Given the description of an element on the screen output the (x, y) to click on. 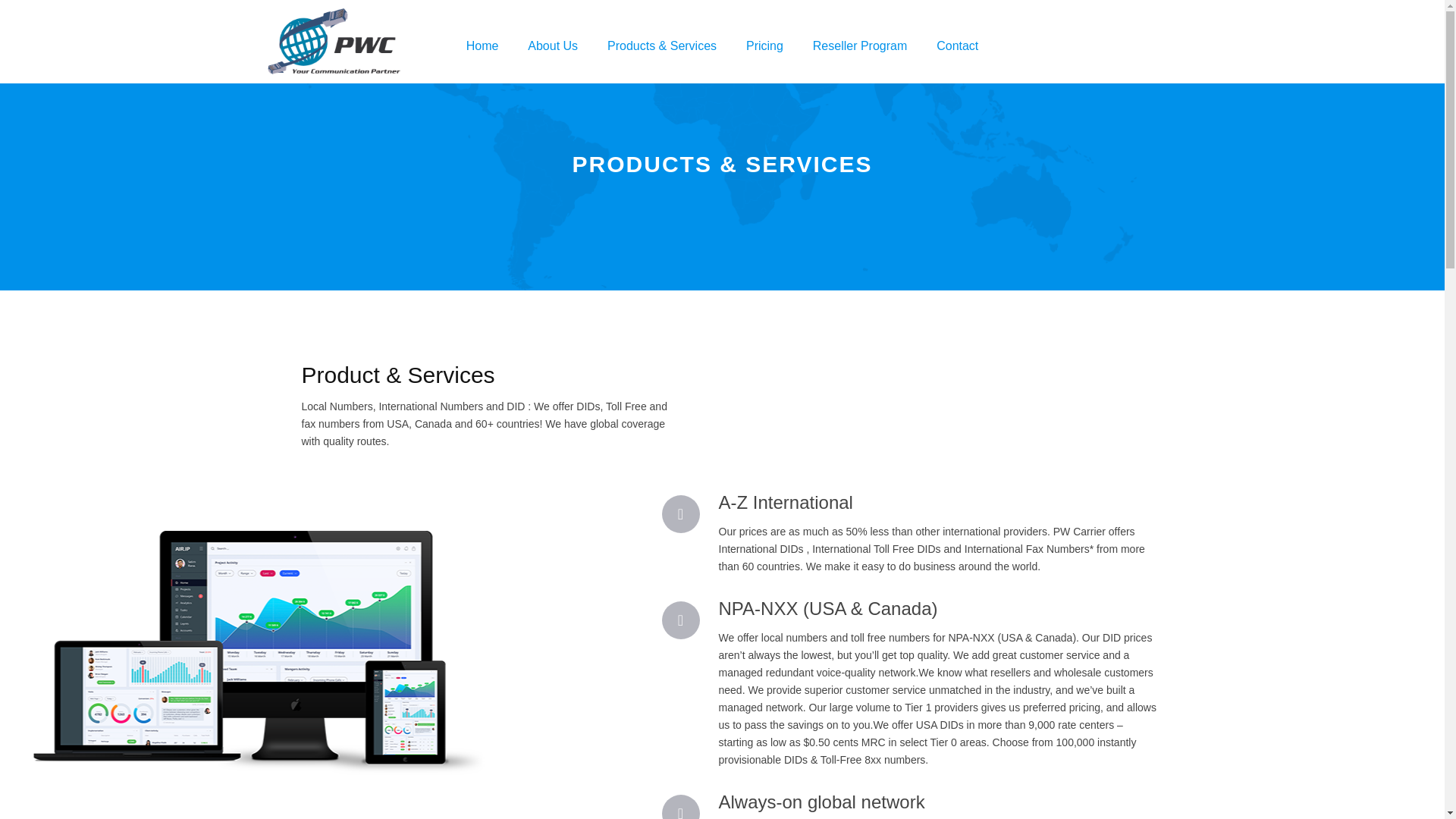
Pricing (764, 46)
Home (482, 46)
About Us (552, 46)
Contact (956, 46)
Reseller Program (859, 46)
